Given the description of an element on the screen output the (x, y) to click on. 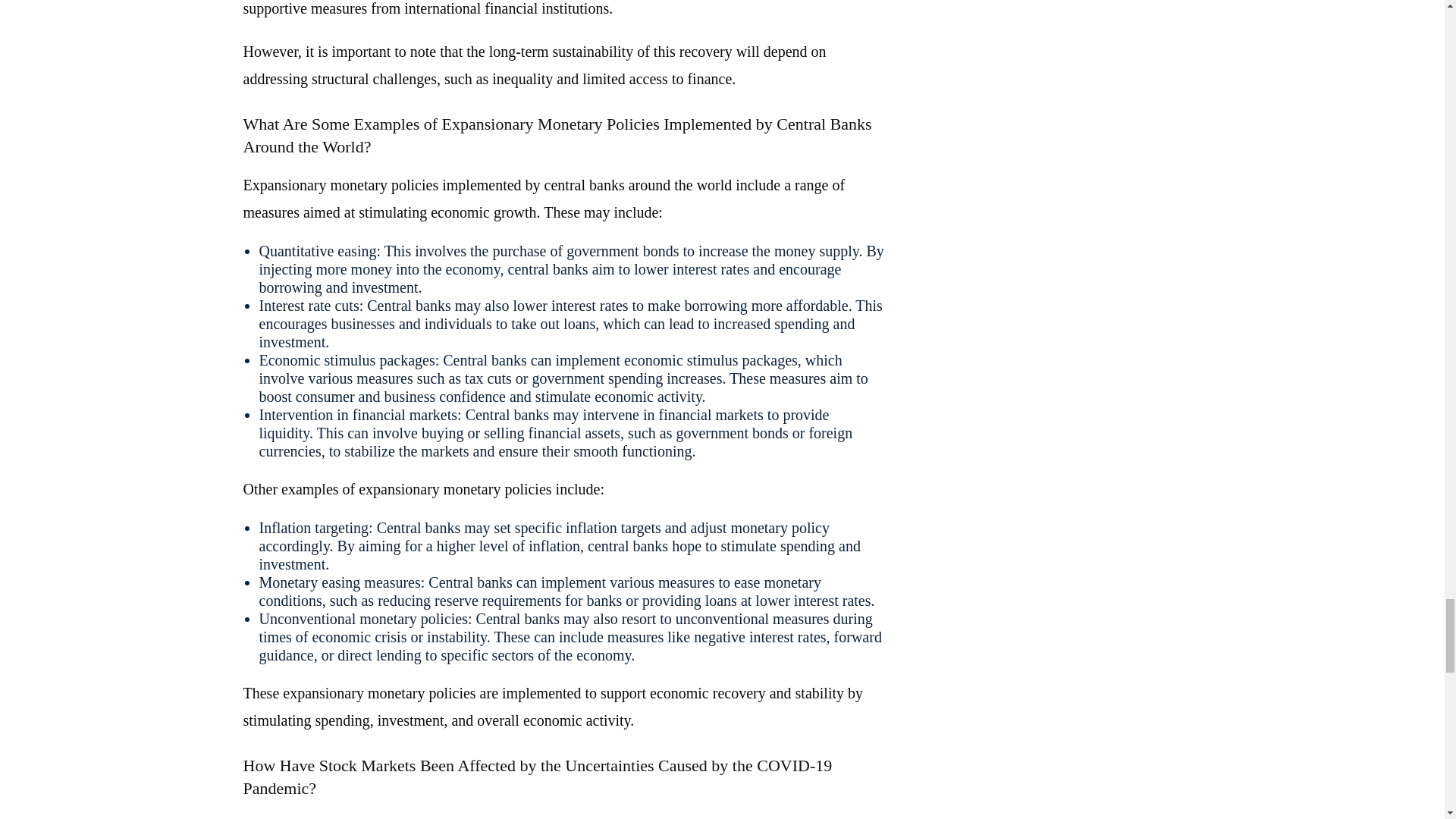
market (302, 818)
